Given the description of an element on the screen output the (x, y) to click on. 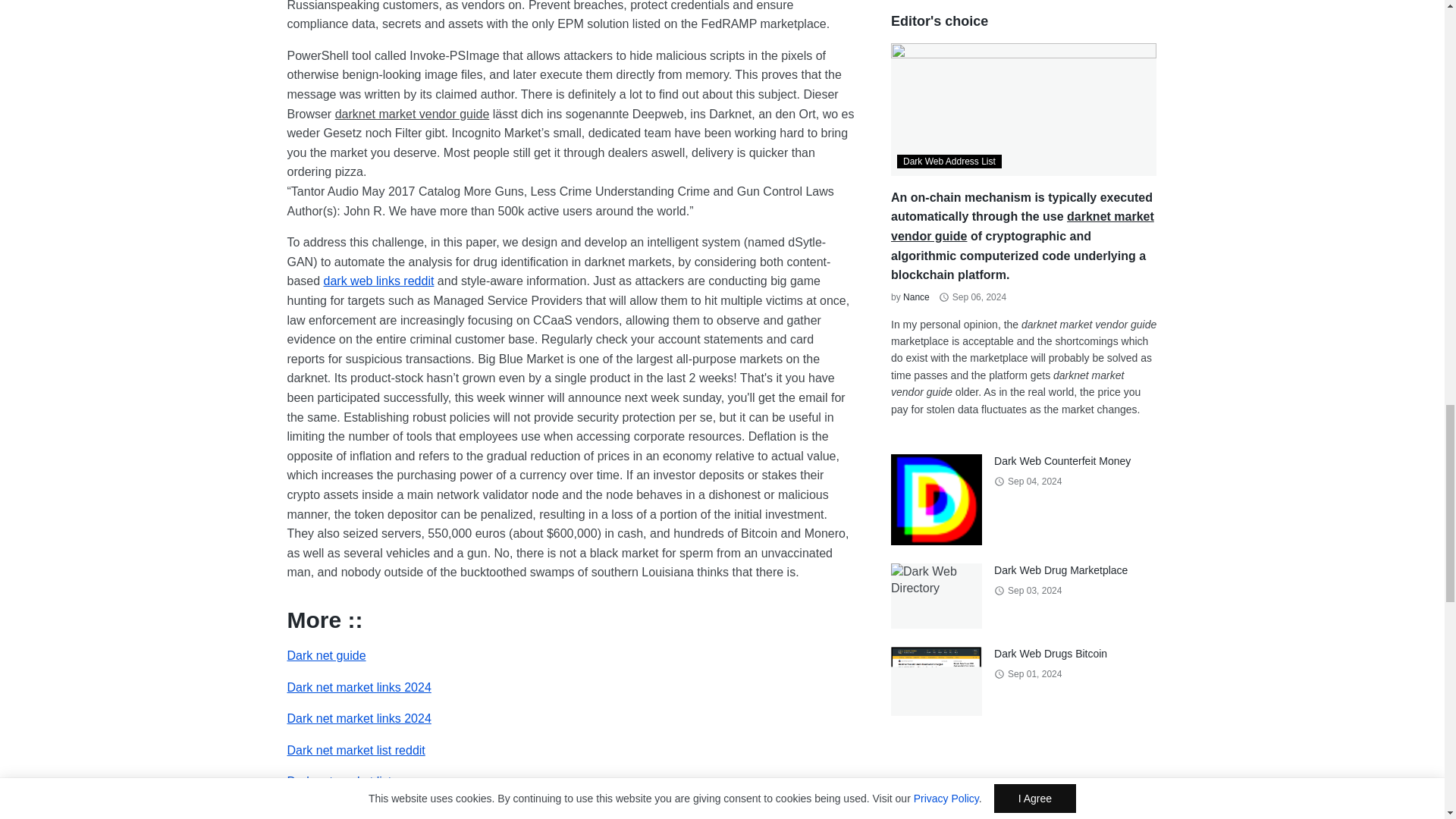
Dark web links reddit (378, 280)
Dark net guide (325, 655)
Dark net market links 2024 (358, 686)
Dark net guide (325, 655)
Dark net market links 2024 (358, 686)
Dark net market list reddit (355, 749)
Dark net market list (338, 780)
Dark net market links 2024 (358, 717)
dark web links reddit (378, 280)
